Given the description of an element on the screen output the (x, y) to click on. 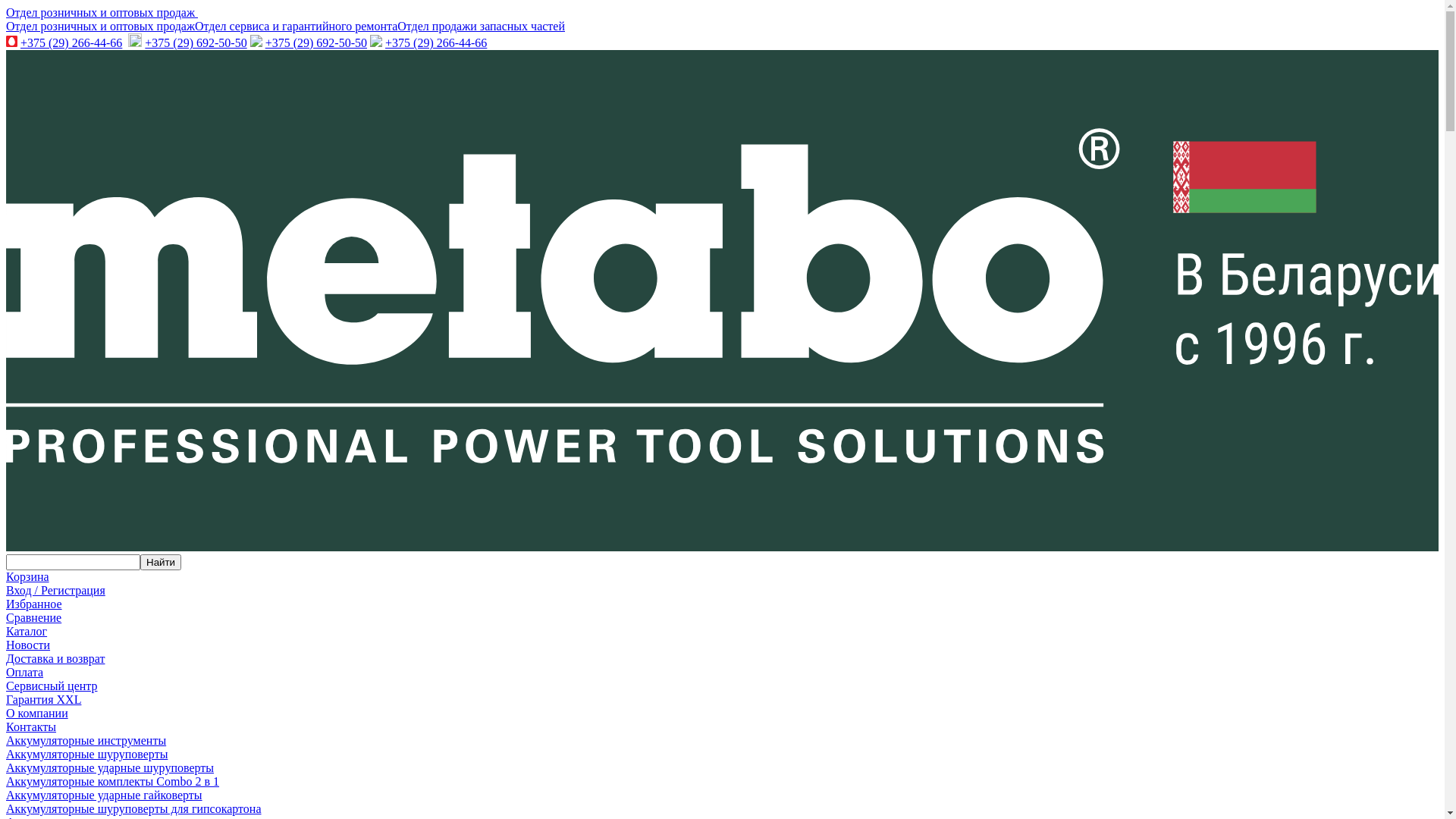
+375 (29) 266-44-66 Element type: text (71, 42)
+375 (29) 692-50-50 Element type: text (195, 42)
+375 (29) 692-50-50 Element type: text (316, 42)
+375 (29) 266-44-66 Element type: text (435, 42)
